Given the description of an element on the screen output the (x, y) to click on. 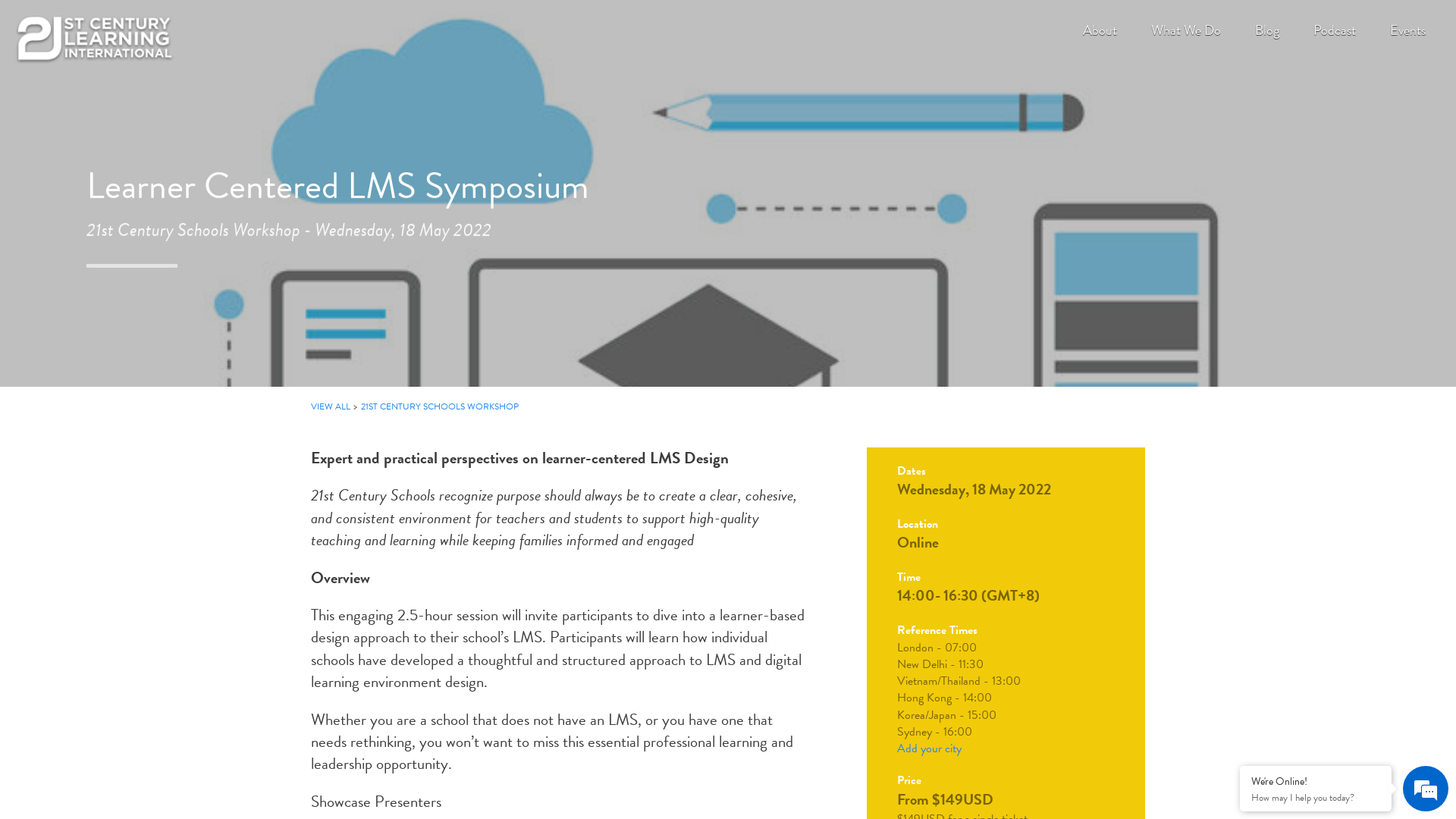
VIEW ALL Element type: text (330, 406)
What We Do Element type: text (1185, 29)
21ST CENTURY SCHOOLS WORKSHOP Element type: text (439, 406)
Add your city Element type: text (929, 748)
Podcast Element type: text (1334, 29)
Blog Element type: text (1267, 29)
Events Element type: text (1407, 29)
About Element type: text (1099, 29)
